Given the description of an element on the screen output the (x, y) to click on. 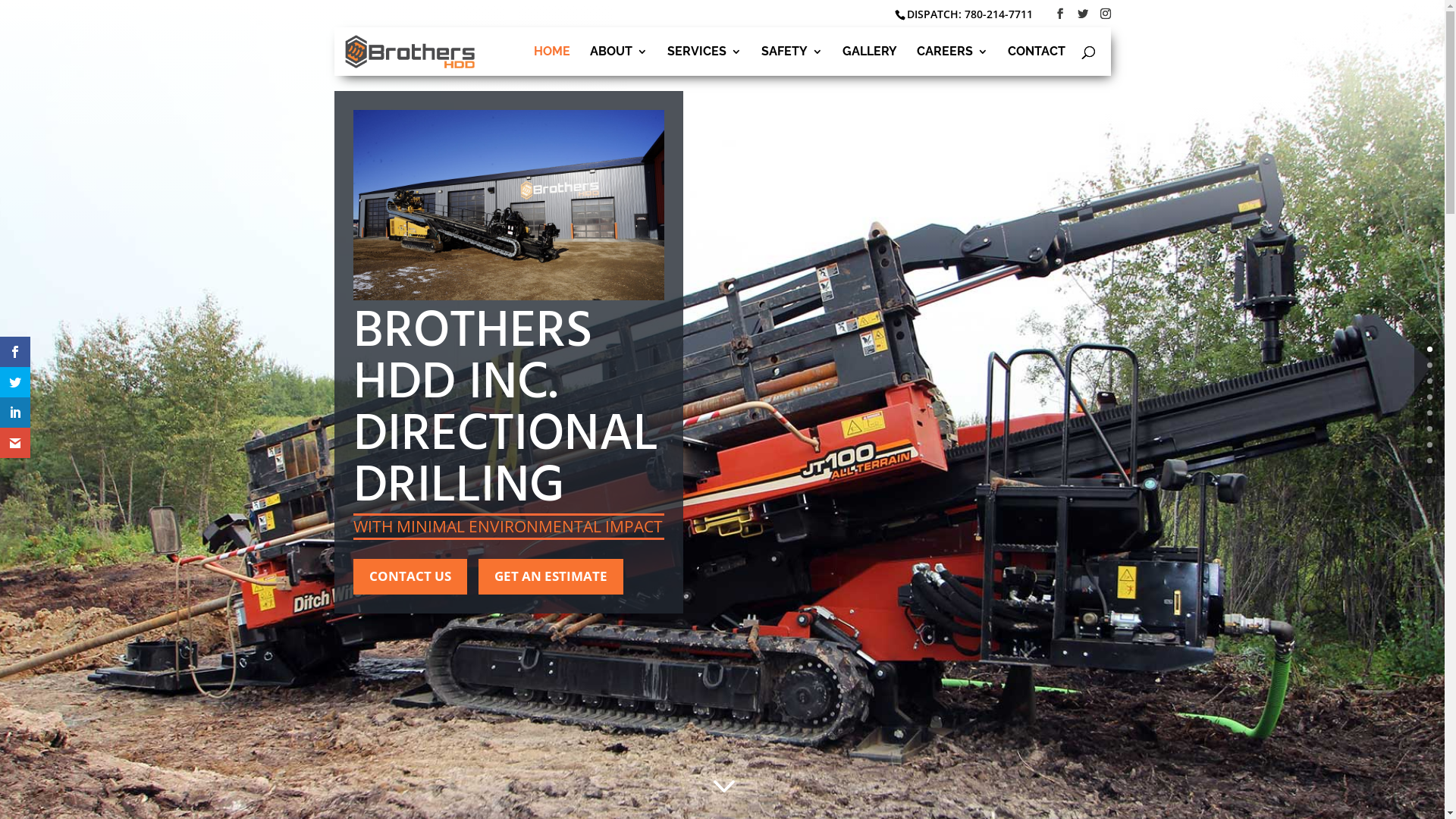
6 Element type: text (1429, 444)
HOME Element type: text (551, 60)
4 Element type: text (1429, 412)
0 Element type: text (1429, 348)
3 Element type: text (1429, 396)
SAFETY Element type: text (791, 60)
ABOUT Element type: text (618, 60)
GALLERY Element type: text (868, 60)
5 Element type: text (1429, 428)
2 Element type: text (1429, 380)
SERVICES Element type: text (704, 60)
CAREERS Element type: text (951, 60)
7 Element type: text (1429, 460)
1 Element type: text (1429, 364)
GET AN ESTIMATE Element type: text (549, 576)
CONTACT US Element type: text (410, 576)
CONTACT Element type: text (1035, 60)
3 Element type: text (721, 786)
